Given the description of an element on the screen output the (x, y) to click on. 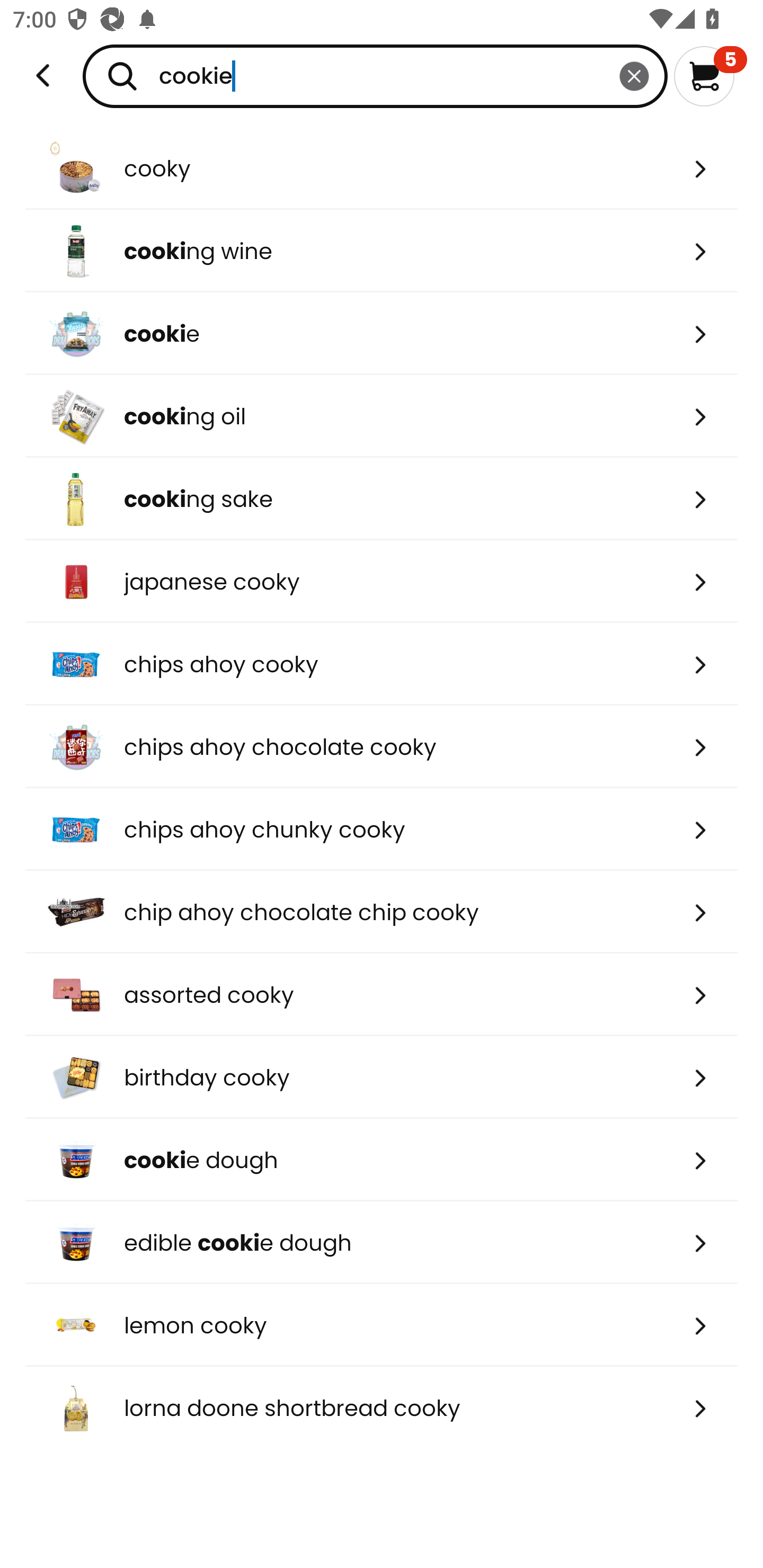
cookie (374, 75)
5 (709, 75)
Weee! (42, 76)
cooky (381, 168)
cooking wine (381, 250)
cookie (381, 332)
cooking oil (381, 415)
cooking sake (381, 498)
japanese cooky (381, 581)
chips ahoy cooky (381, 663)
chips ahoy chocolate cooky (381, 746)
chips ahoy chunky cooky (381, 829)
chip ahoy chocolate chip cooky (381, 911)
assorted cooky (381, 994)
birthday cooky (381, 1077)
cookie dough (381, 1160)
edible cookie dough (381, 1242)
lemon cooky (381, 1325)
lorna doone shortbread cooky (381, 1407)
